Given the description of an element on the screen output the (x, y) to click on. 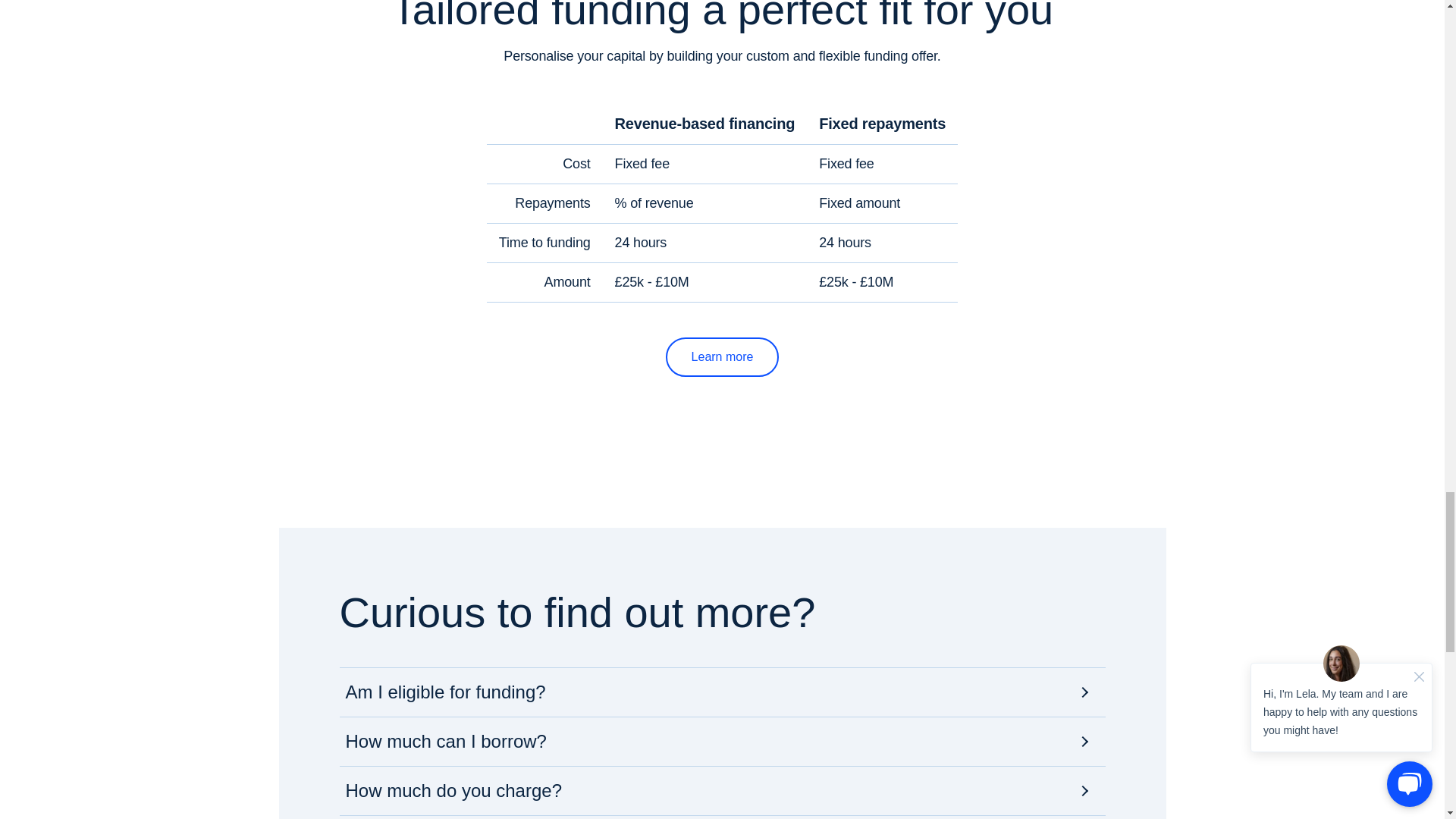
Learn more (721, 356)
